Given the description of an element on the screen output the (x, y) to click on. 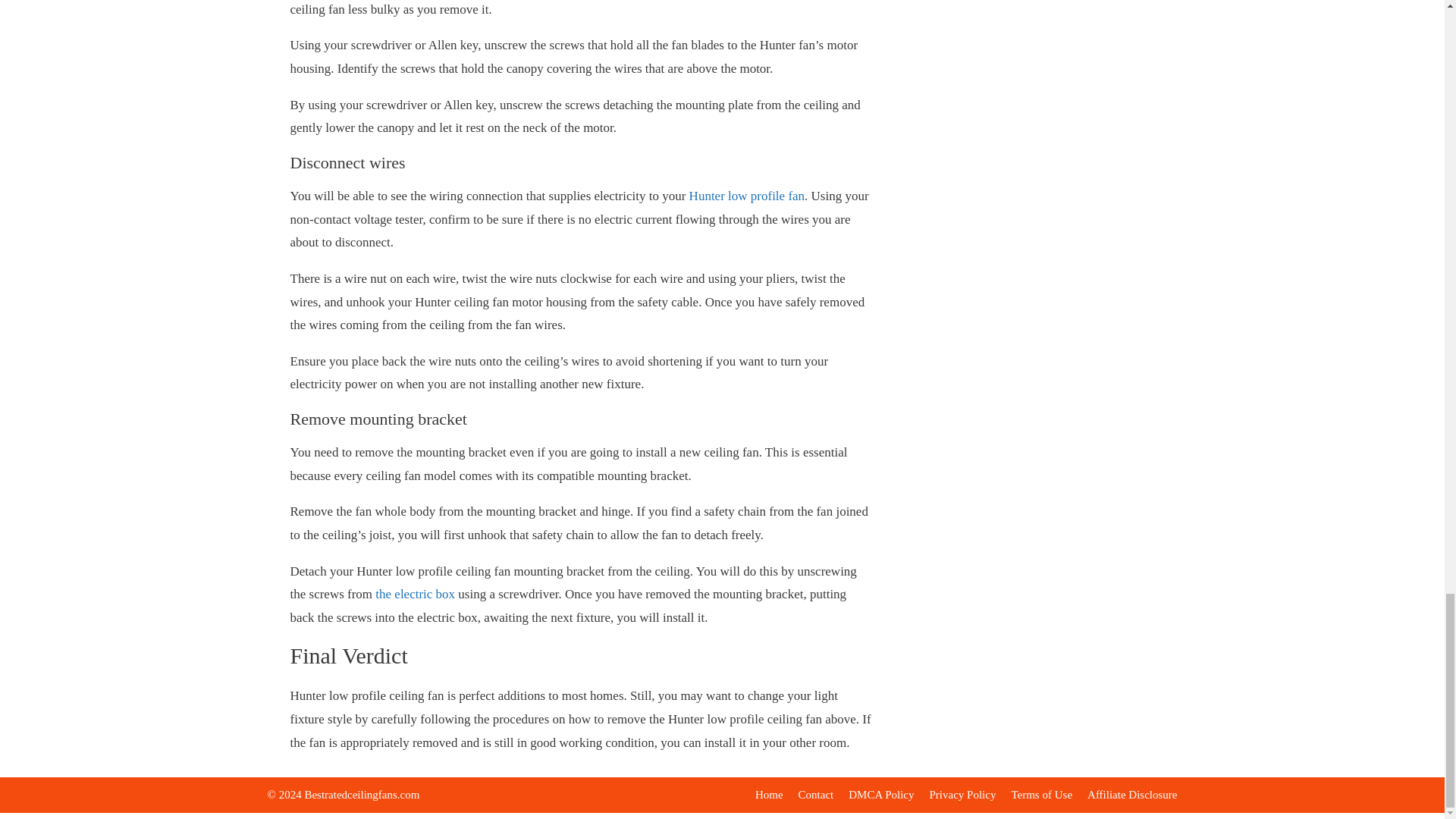
Bestratedceilingfans.com (361, 794)
the electric box (414, 594)
DMCA Policy (881, 794)
Home (769, 794)
Affiliate Disclosure (1131, 794)
Terms of Use (1040, 794)
Contact (815, 794)
Hunter low profile fan (746, 196)
Privacy Policy (962, 794)
